Given the description of an element on the screen output the (x, y) to click on. 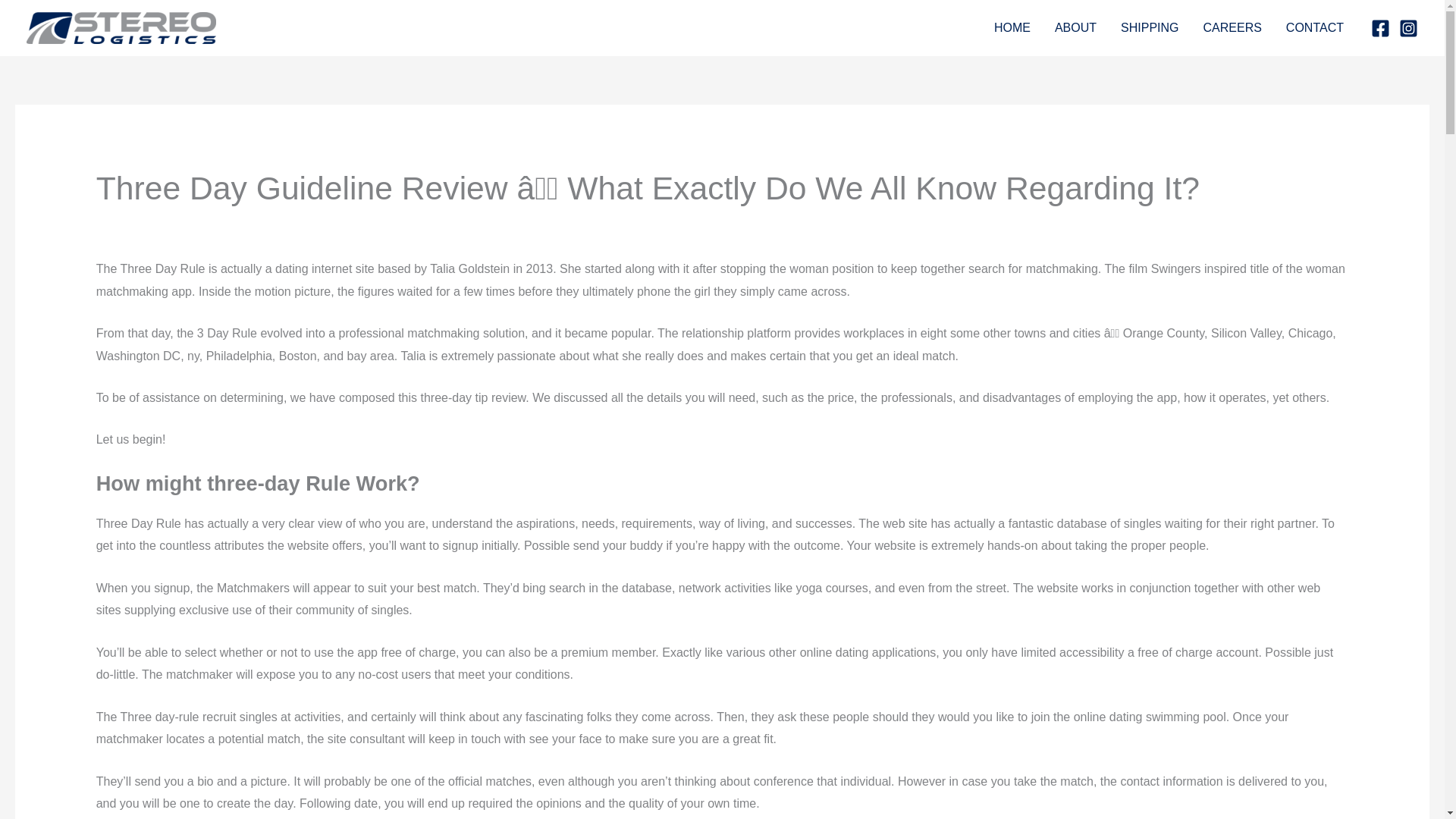
CONTACT (1314, 27)
ABOUT (1075, 27)
SHIPPING (1149, 27)
HOME (1011, 27)
CAREERS (1231, 27)
Uncategorized (135, 224)
